Given the description of an element on the screen output the (x, y) to click on. 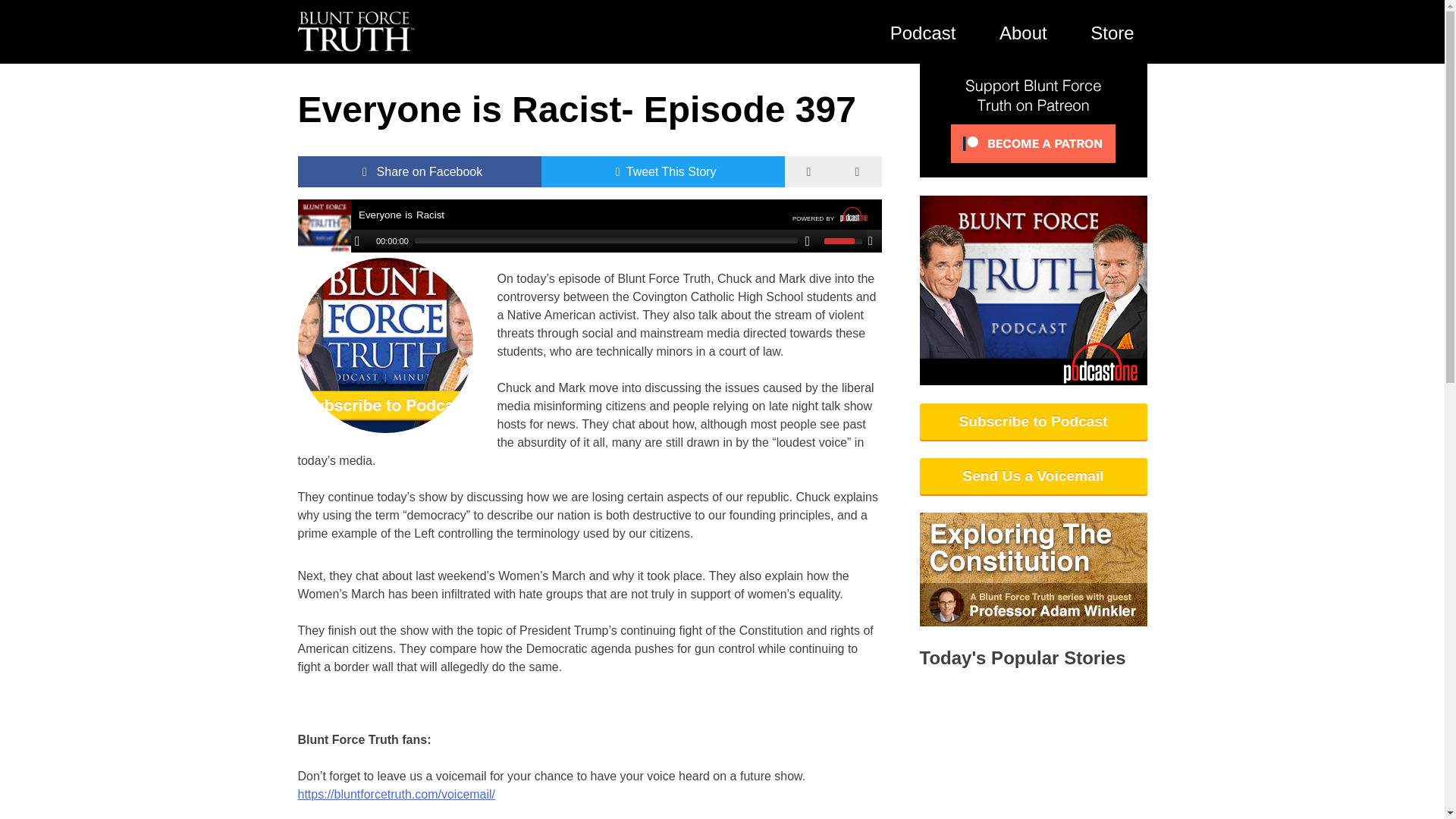
About (1023, 31)
Store (1112, 31)
Subscribe to Podcast (1032, 421)
Send Us a Voicemail (1032, 475)
Tweet This Story (662, 172)
Share on Facebook (418, 172)
Podcast (922, 31)
